Given the description of an element on the screen output the (x, y) to click on. 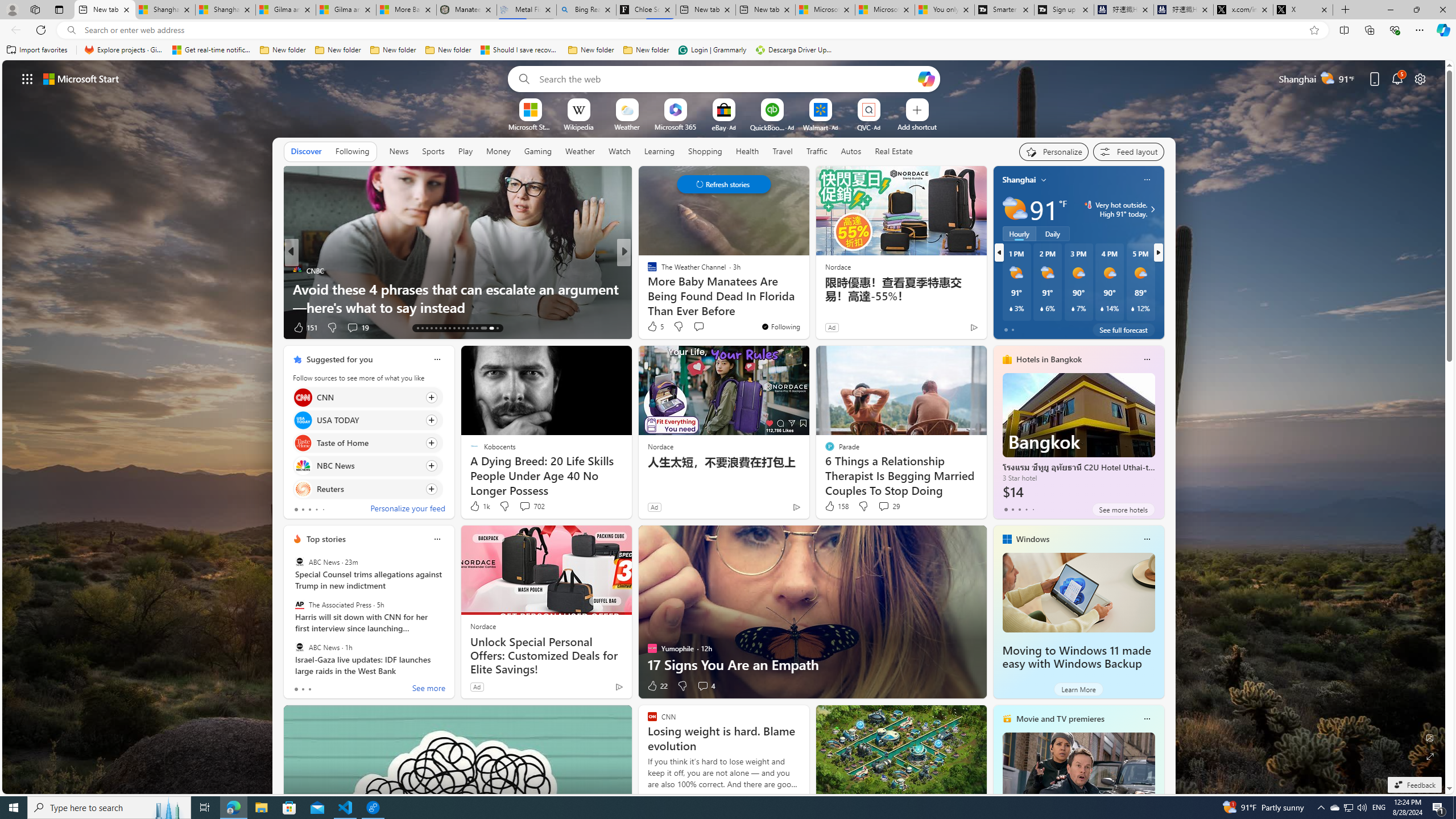
AutomationID: tab-16 (431, 328)
Shanghai (1018, 179)
Travel (782, 151)
Reuters (302, 488)
1k Like (478, 505)
Health (746, 151)
Gaming (537, 151)
Movie and TV premieres (1060, 718)
